Given the description of an element on the screen output the (x, y) to click on. 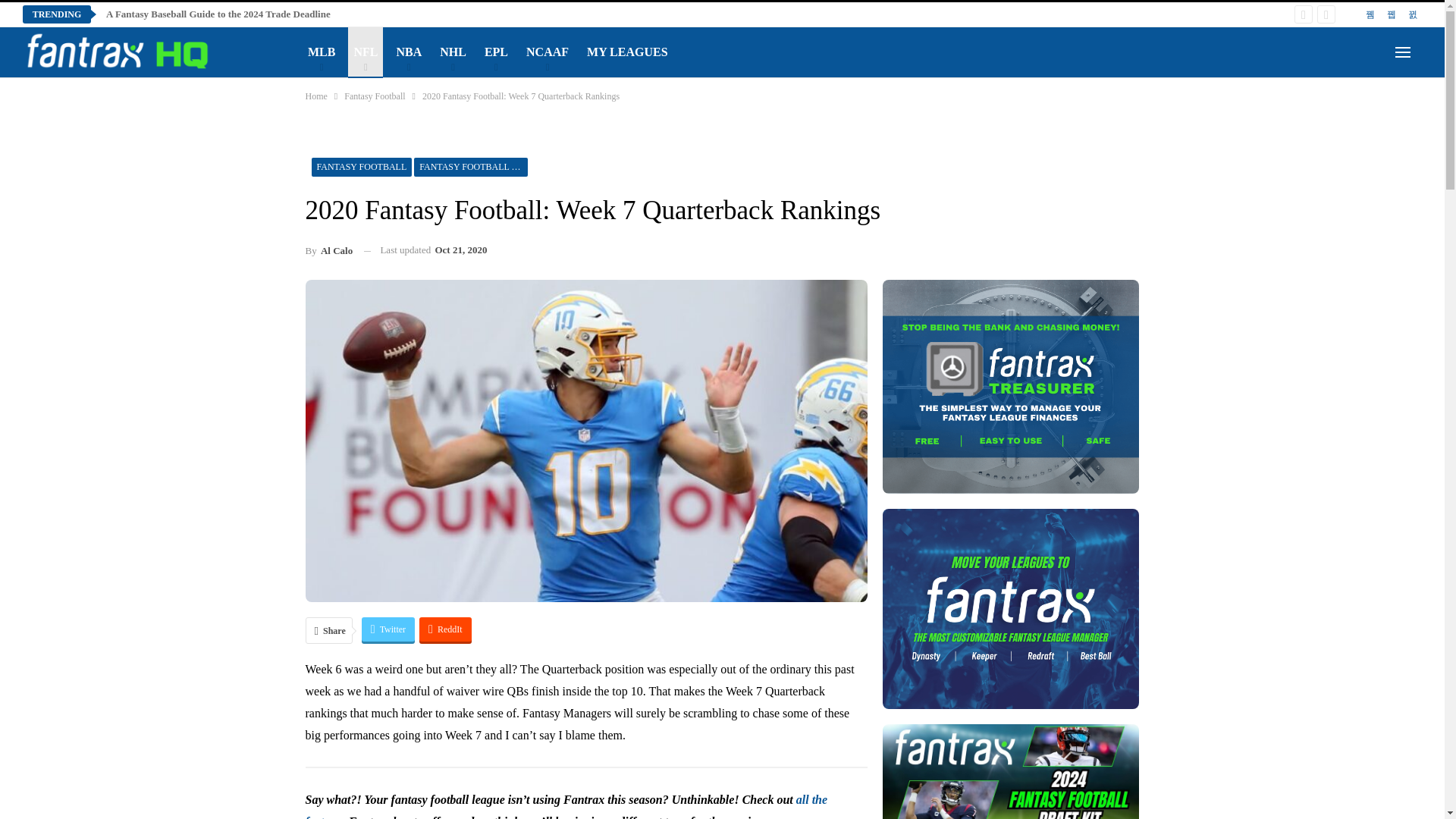
More from this author (328, 250)
